Given the description of an element on the screen output the (x, y) to click on. 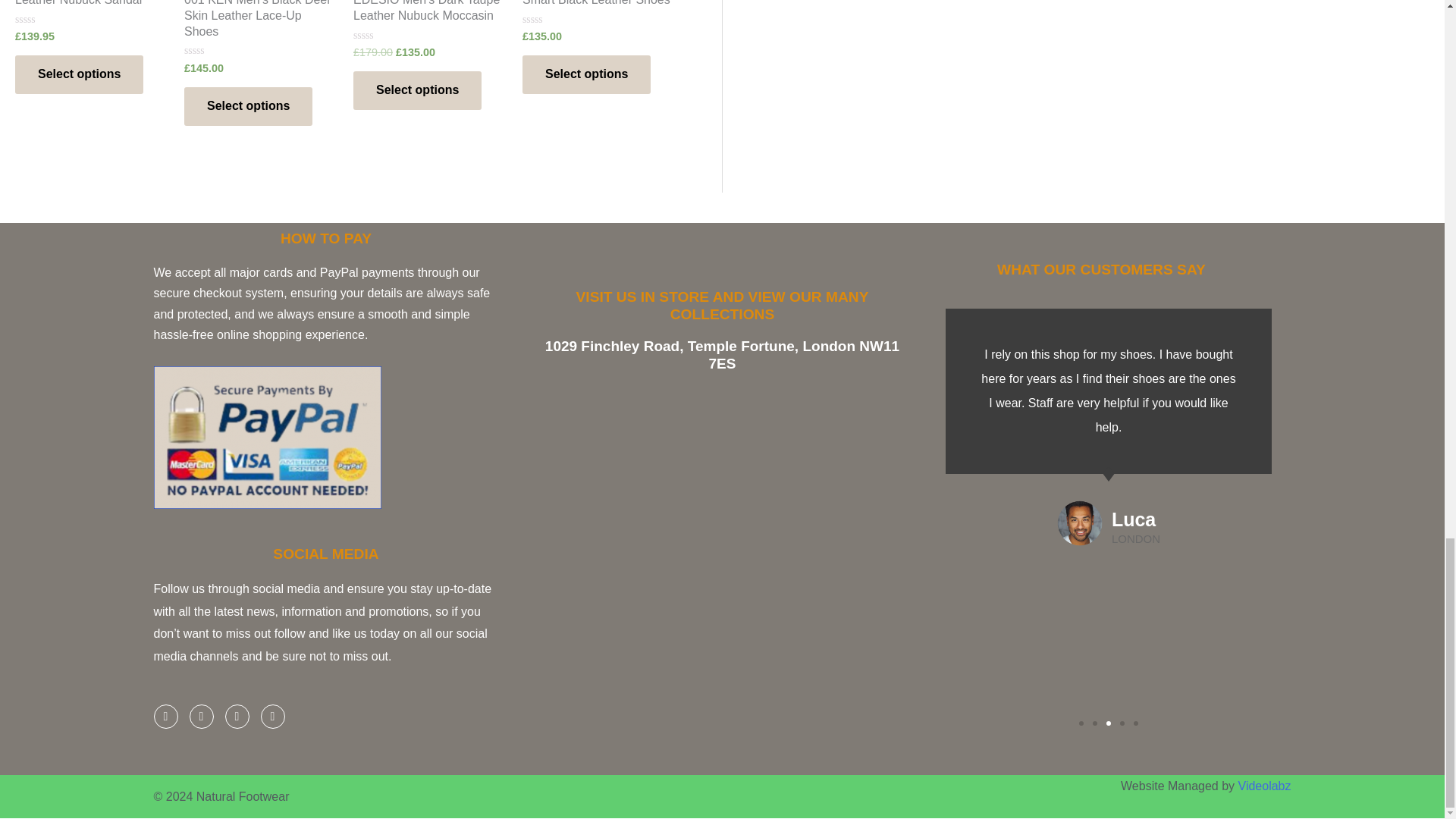
Naot Natural Footweart1029 Finchley Road NW117ES (721, 548)
